Given the description of an element on the screen output the (x, y) to click on. 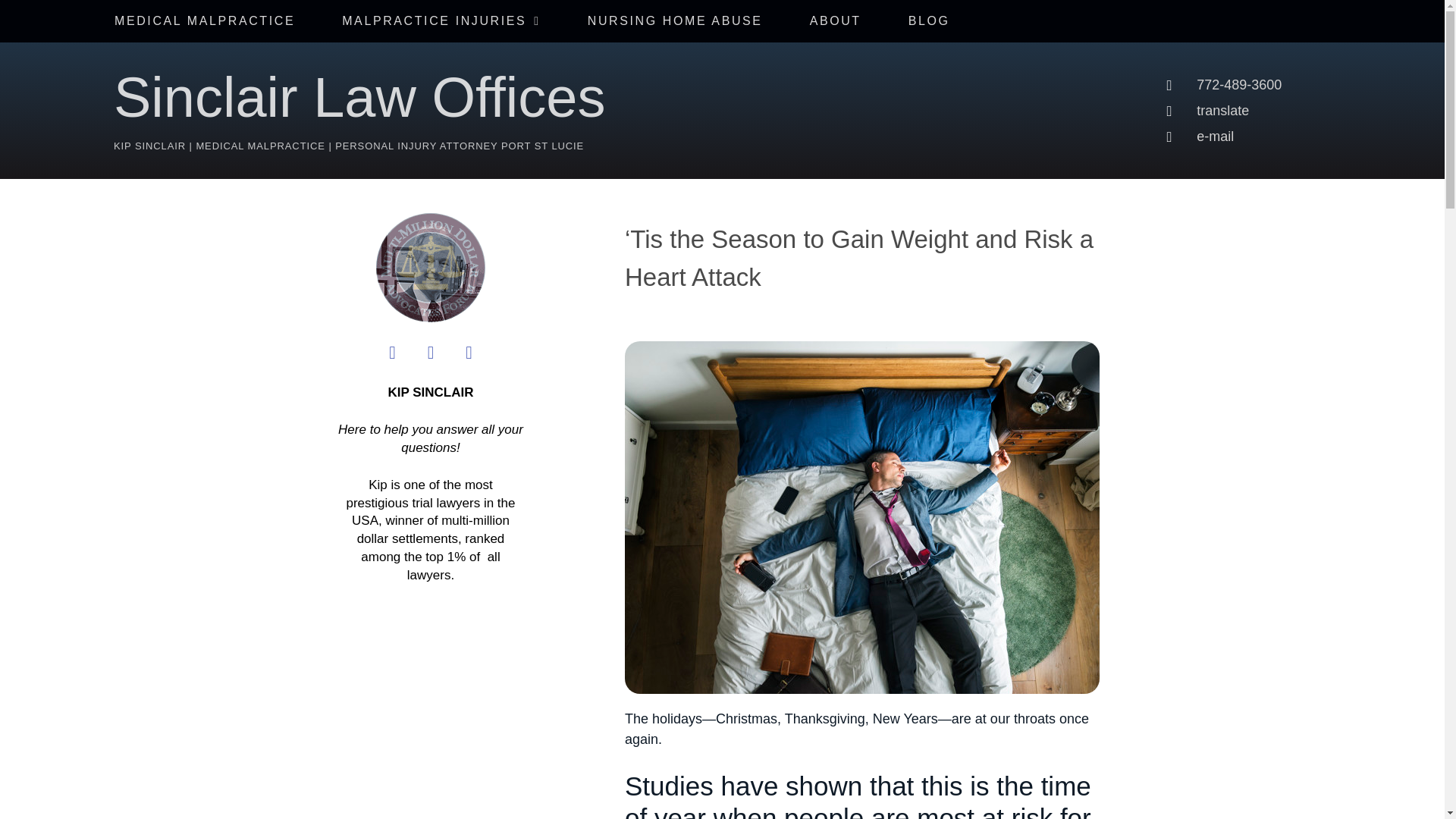
MEDICAL MALPRACTICE (204, 21)
MALPRACTICE INJURIES (441, 21)
e-mail (1304, 136)
BLOG (929, 21)
translate (1304, 109)
NURSING HOME ABUSE (675, 21)
772-489-3600 (1304, 84)
ABOUT (835, 21)
